Given the description of an element on the screen output the (x, y) to click on. 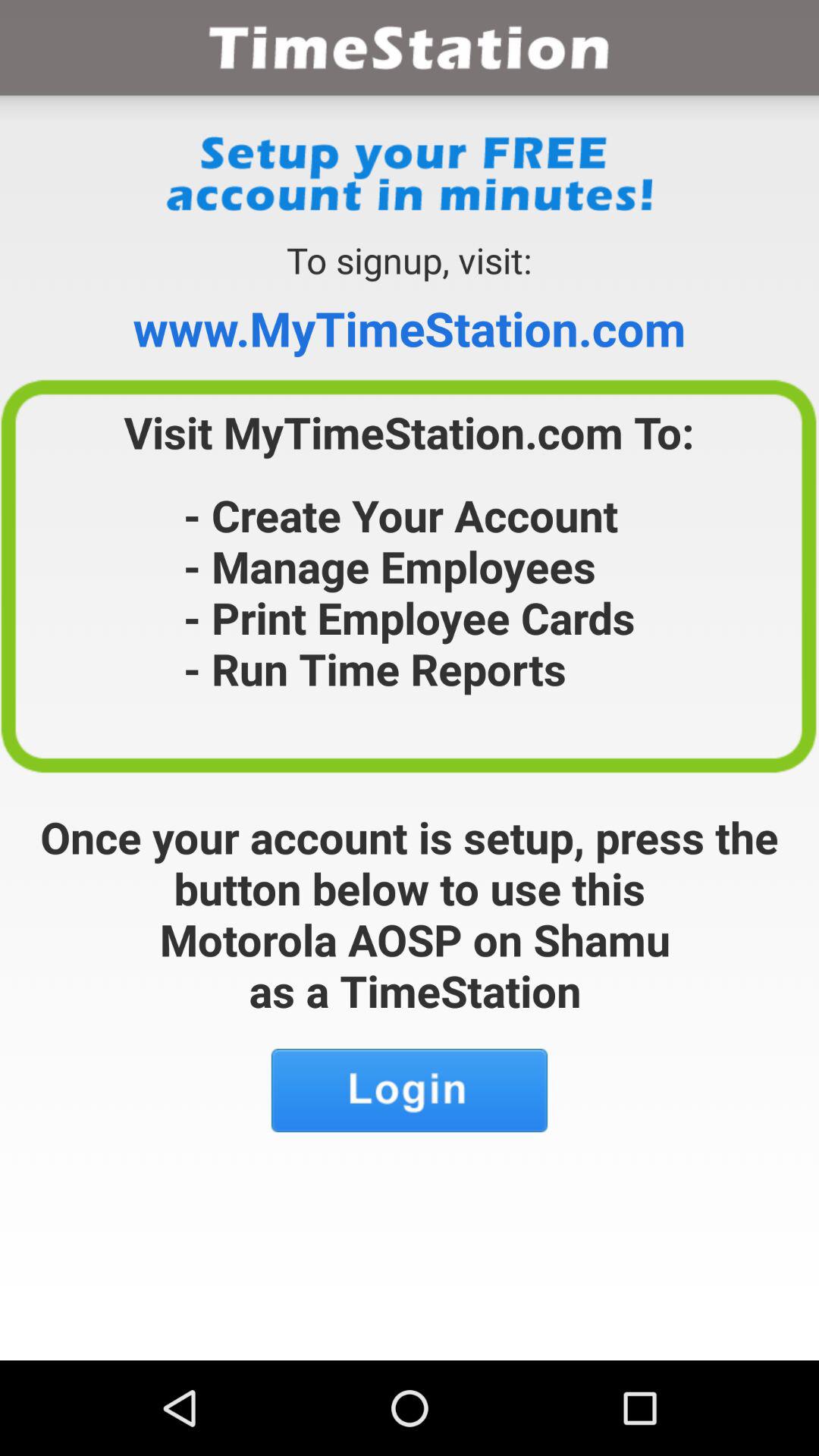
choose item below once your account (409, 1090)
